Given the description of an element on the screen output the (x, y) to click on. 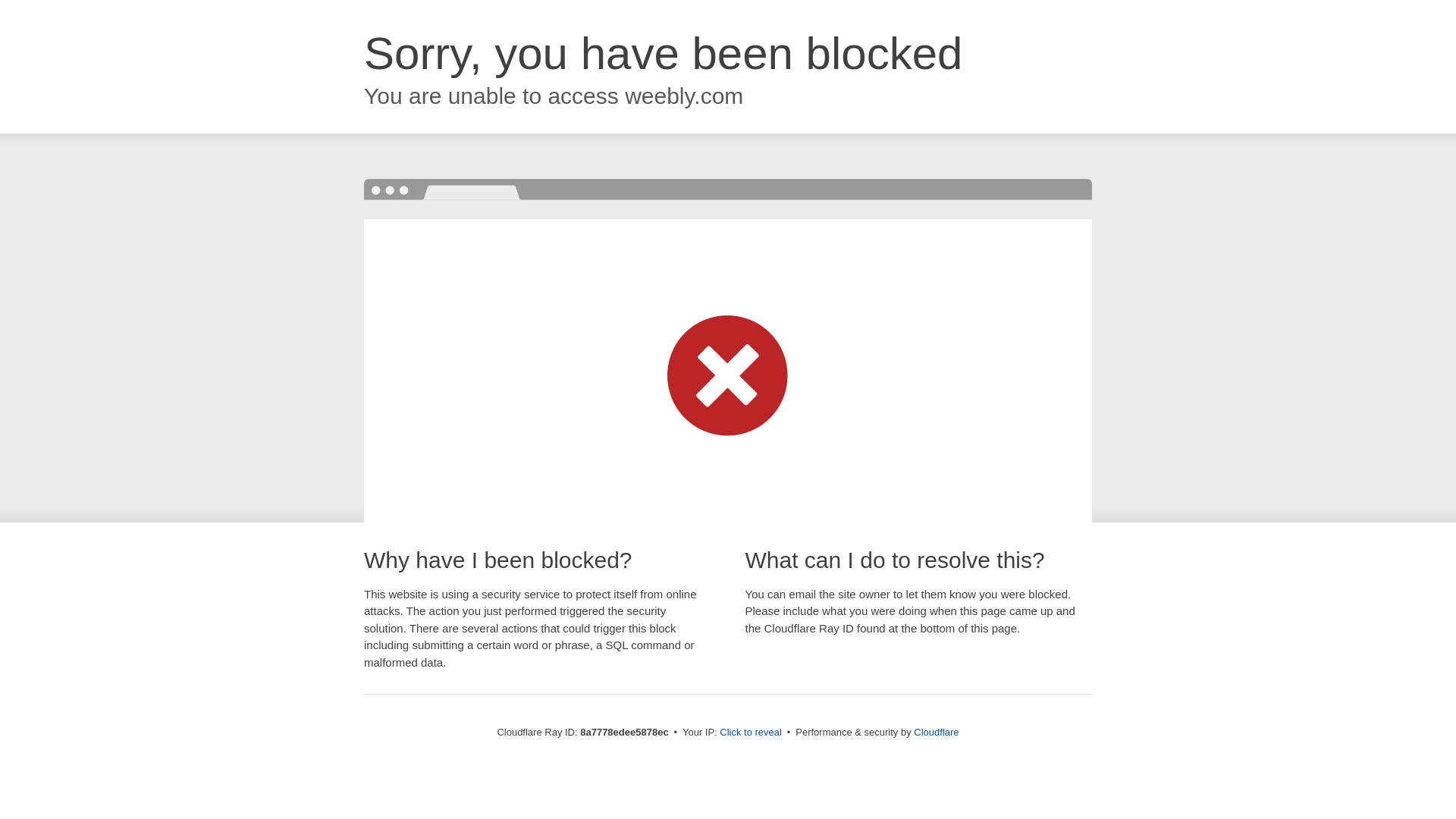
Click to reveal (750, 732)
Cloudflare (936, 731)
